Given the description of an element on the screen output the (x, y) to click on. 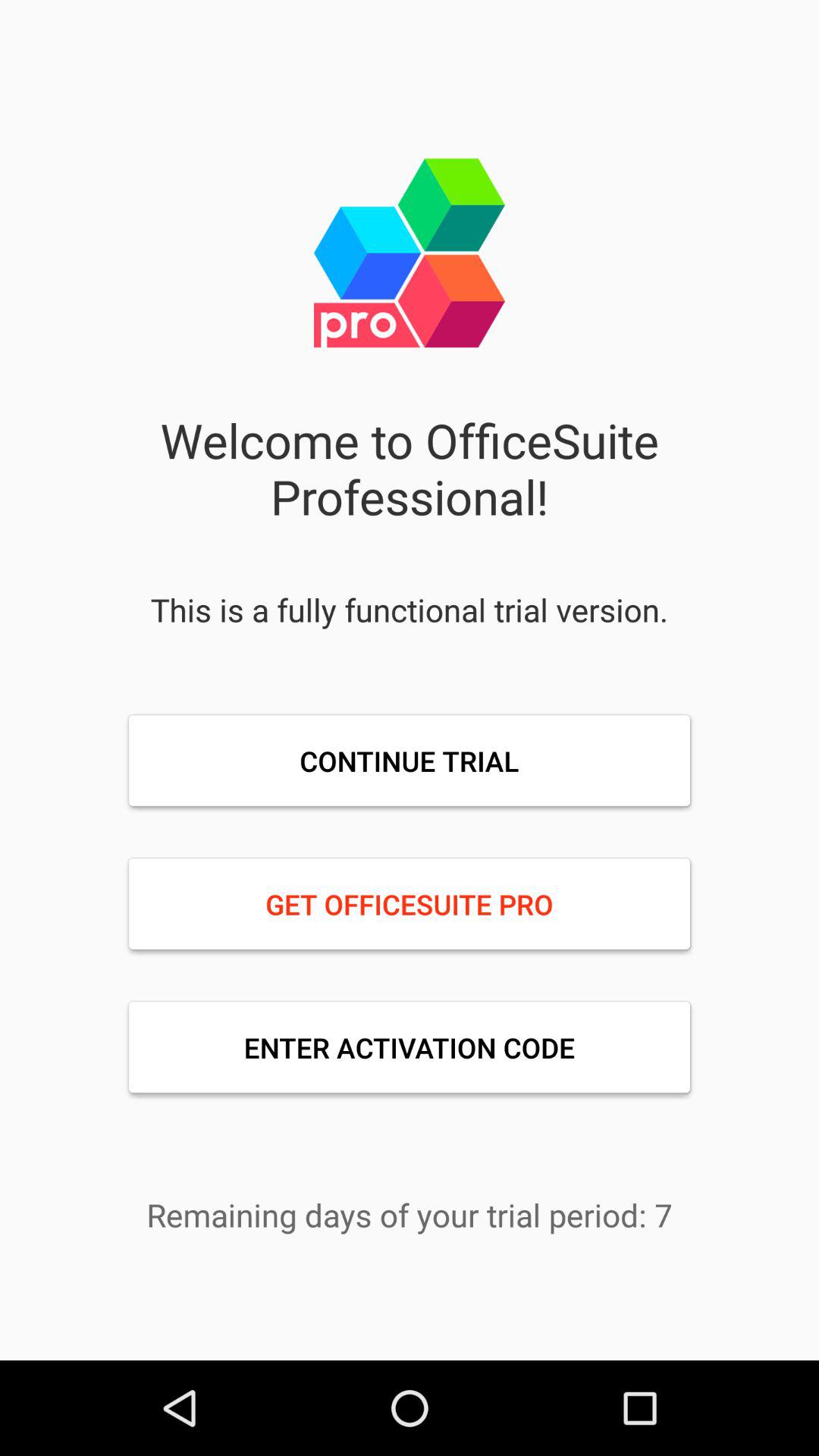
turn on the continue trial (409, 760)
